Given the description of an element on the screen output the (x, y) to click on. 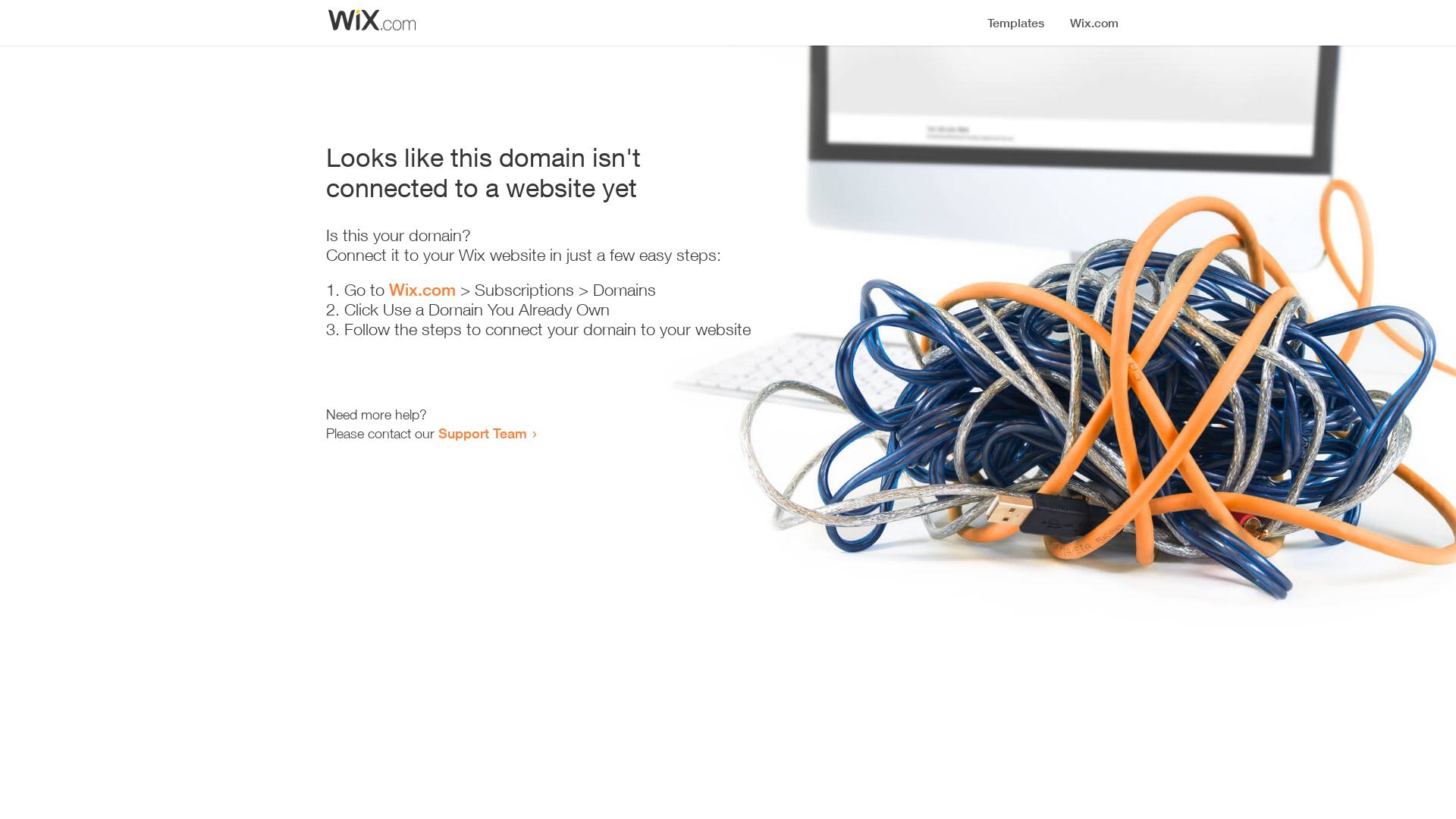
Support Team Element type: text (482, 432)
Wix.com Element type: text (422, 289)
